Given the description of an element on the screen output the (x, y) to click on. 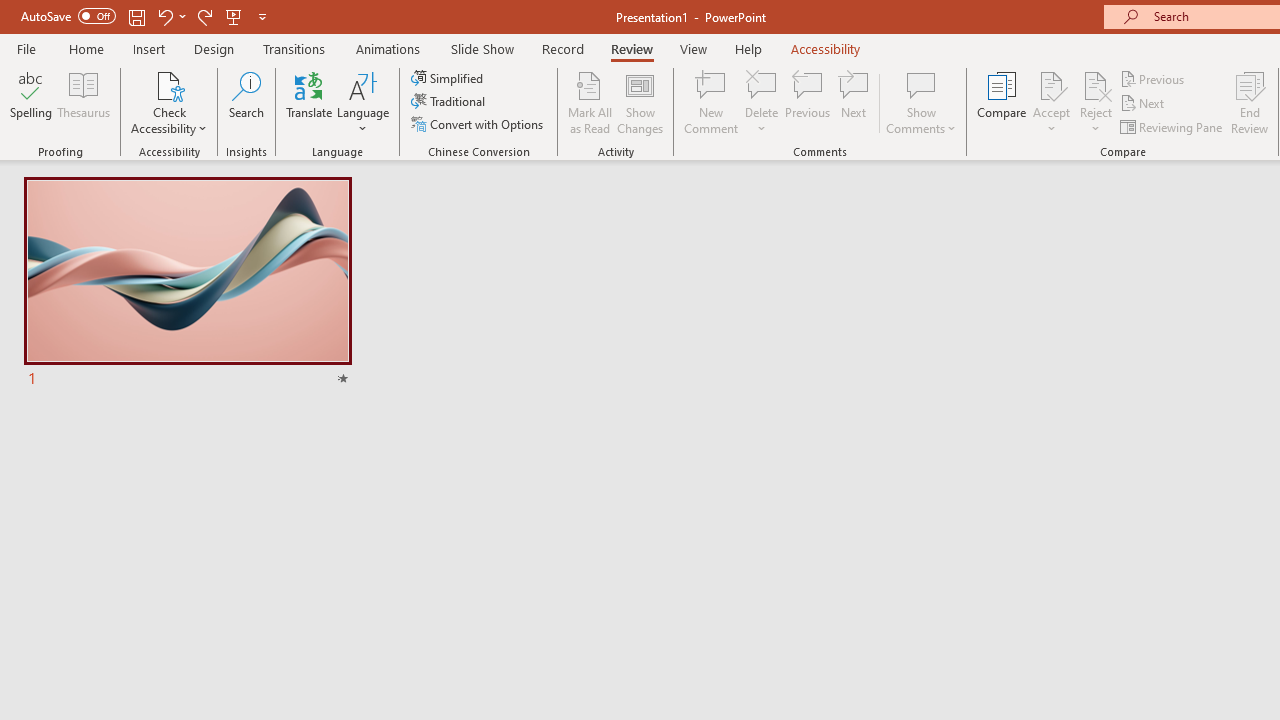
Convert with Options... (479, 124)
Compare (1002, 102)
Accept Change (1051, 84)
